Given the description of an element on the screen output the (x, y) to click on. 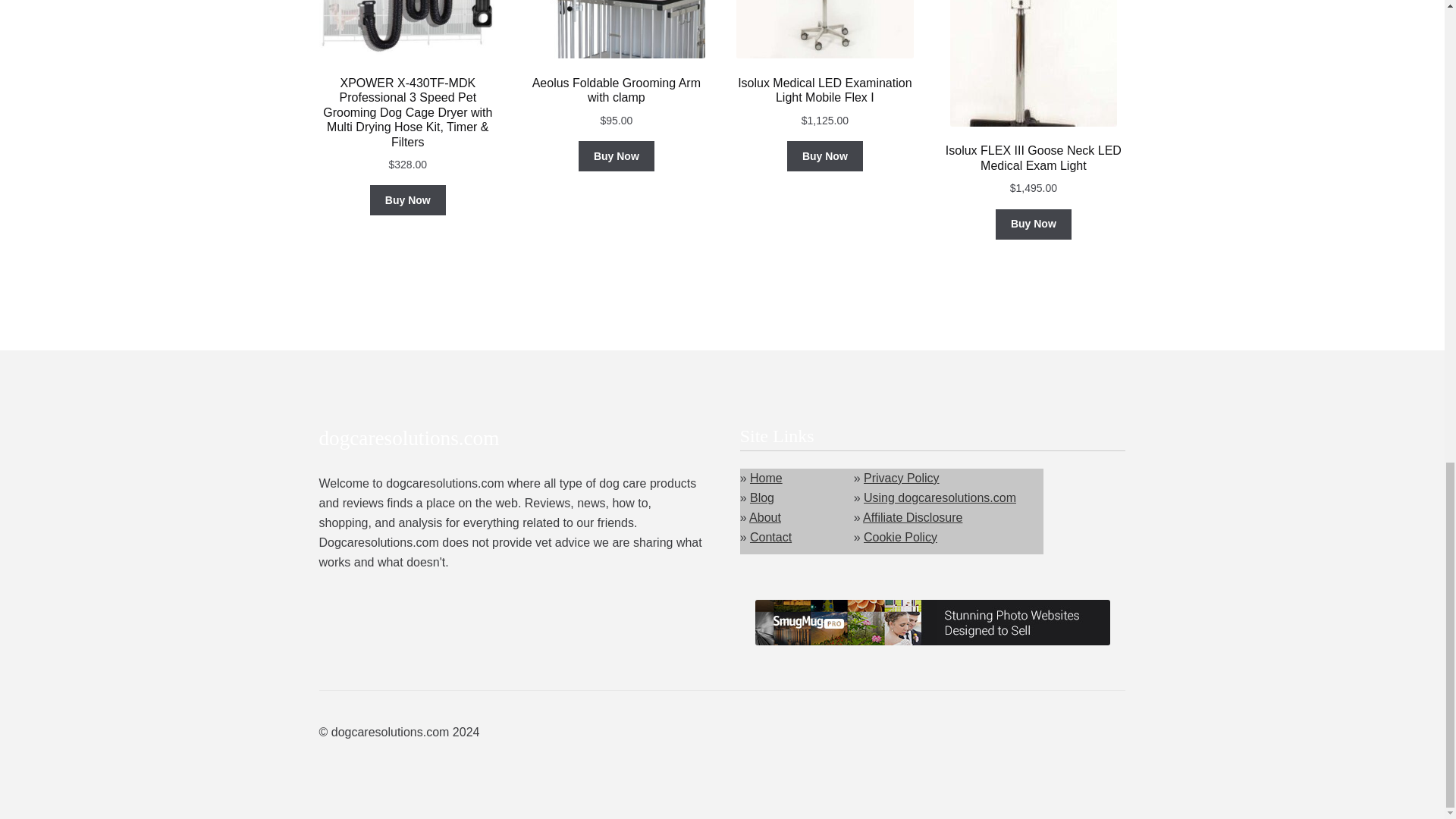
Buy Now (407, 200)
